Given the description of an element on the screen output the (x, y) to click on. 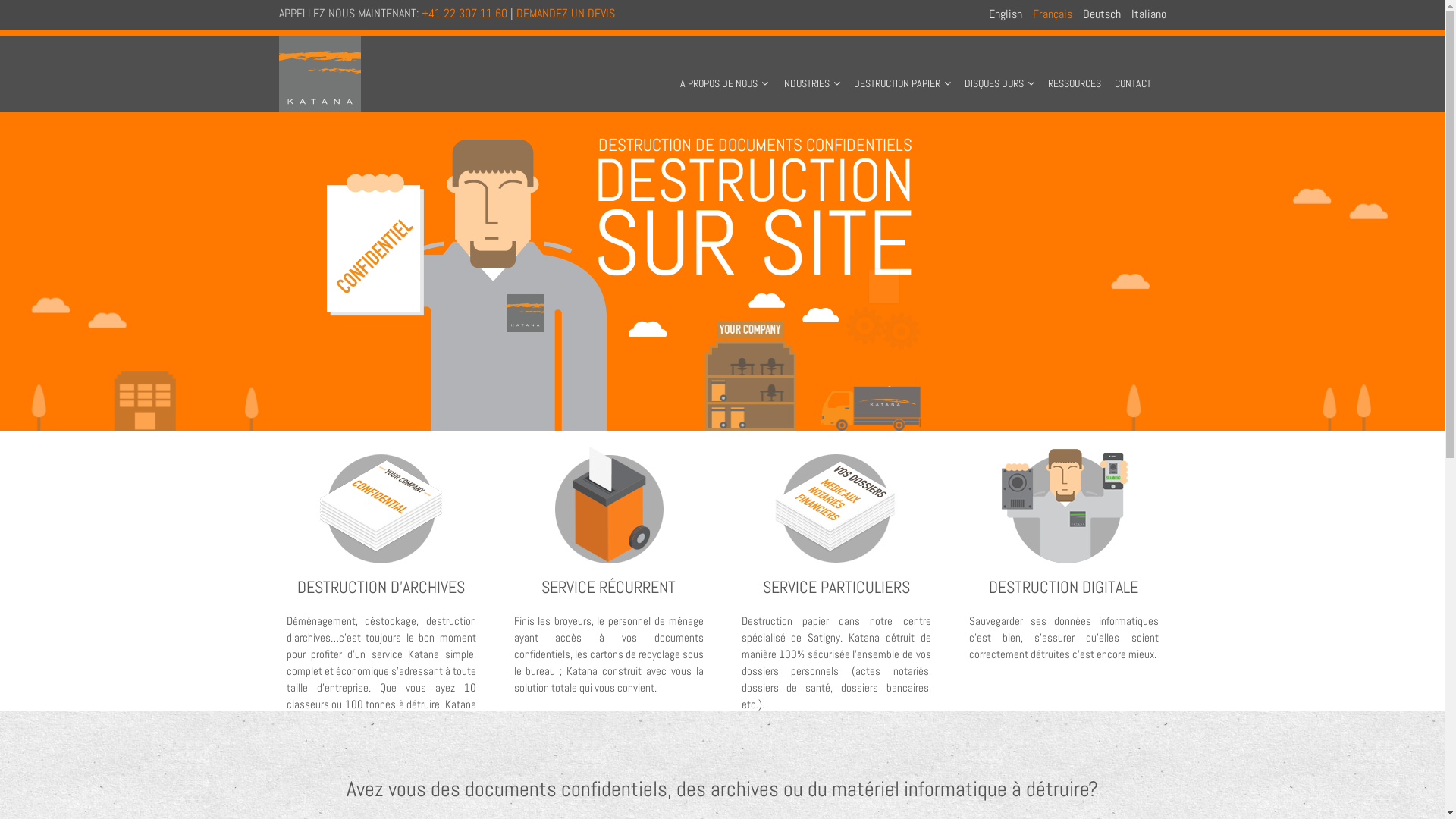
RESSOURCES Element type: text (1074, 71)
+41 22 307 11 60 Element type: text (464, 13)
Italiano Element type: text (1148, 13)
DESTRUCTION PAPIER Element type: text (902, 71)
A PROPOS DE NOUS Element type: text (723, 71)
INDUSTRIES Element type: text (811, 71)
DISQUES DURS Element type: text (999, 71)
English Element type: text (1005, 13)
Deutsch Element type: text (1101, 13)
DEMANDEZ UN DEVIS Element type: text (564, 13)
CONTACT Element type: text (1132, 71)
